Given the description of an element on the screen output the (x, y) to click on. 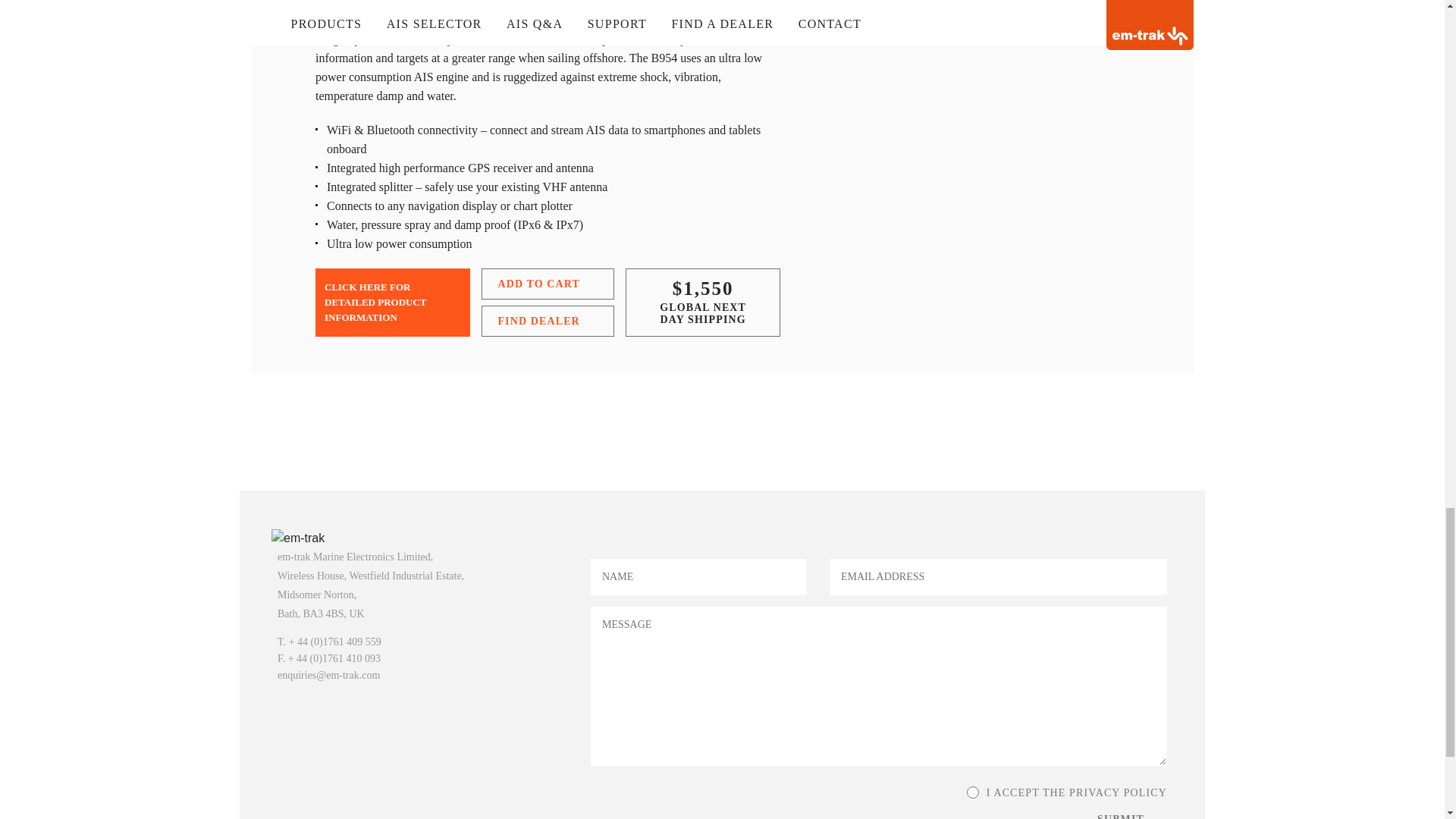
Submit (1130, 814)
ADD TO CART (546, 283)
Submit (1130, 814)
CLICK HERE FOR DETAILED PRODUCT INFORMATION (392, 302)
I ACCEPT THE PRIVACY POLICY (972, 792)
FIND DEALER (546, 320)
